Given the description of an element on the screen output the (x, y) to click on. 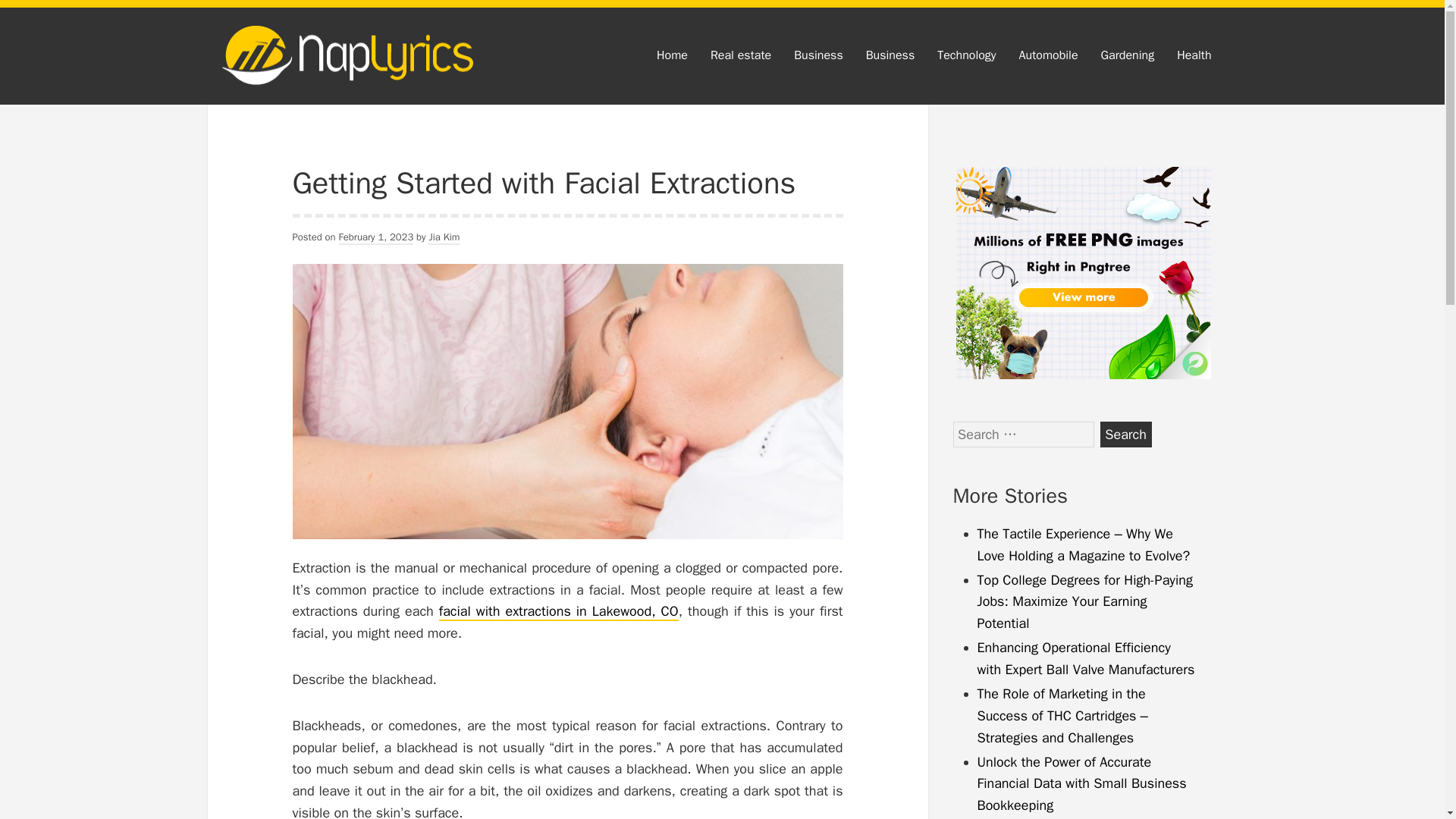
Real estate (740, 55)
Business (890, 55)
Jia Kim (444, 237)
Search (1125, 434)
Automobile (1048, 55)
Business (818, 55)
Technology (966, 55)
Search (1125, 434)
